Given the description of an element on the screen output the (x, y) to click on. 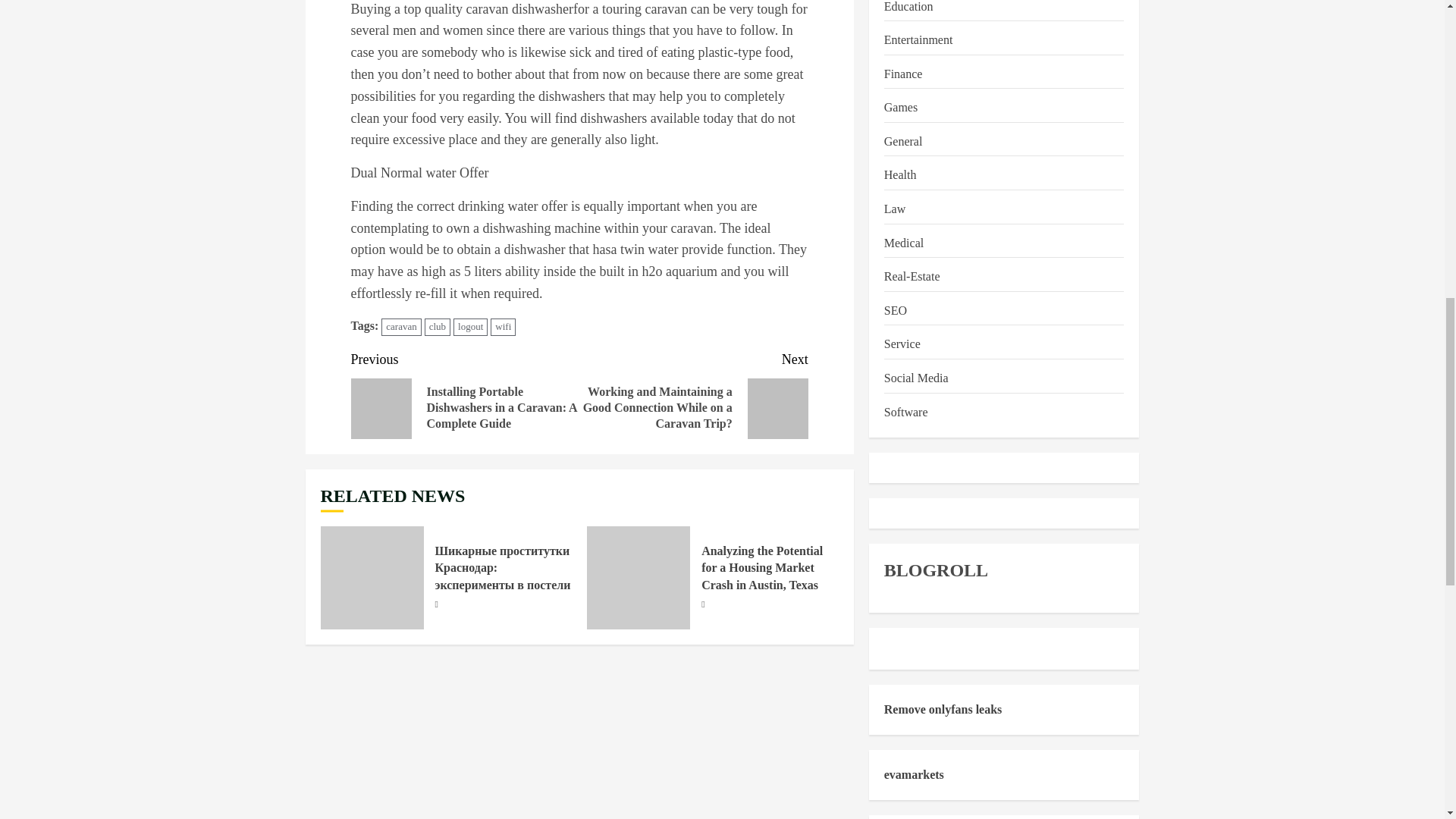
Games (900, 107)
club (437, 326)
Education (908, 8)
Finance (903, 74)
logout (469, 326)
caravan (400, 326)
wifi (502, 326)
General (903, 141)
Entertainment (918, 40)
